Given the description of an element on the screen output the (x, y) to click on. 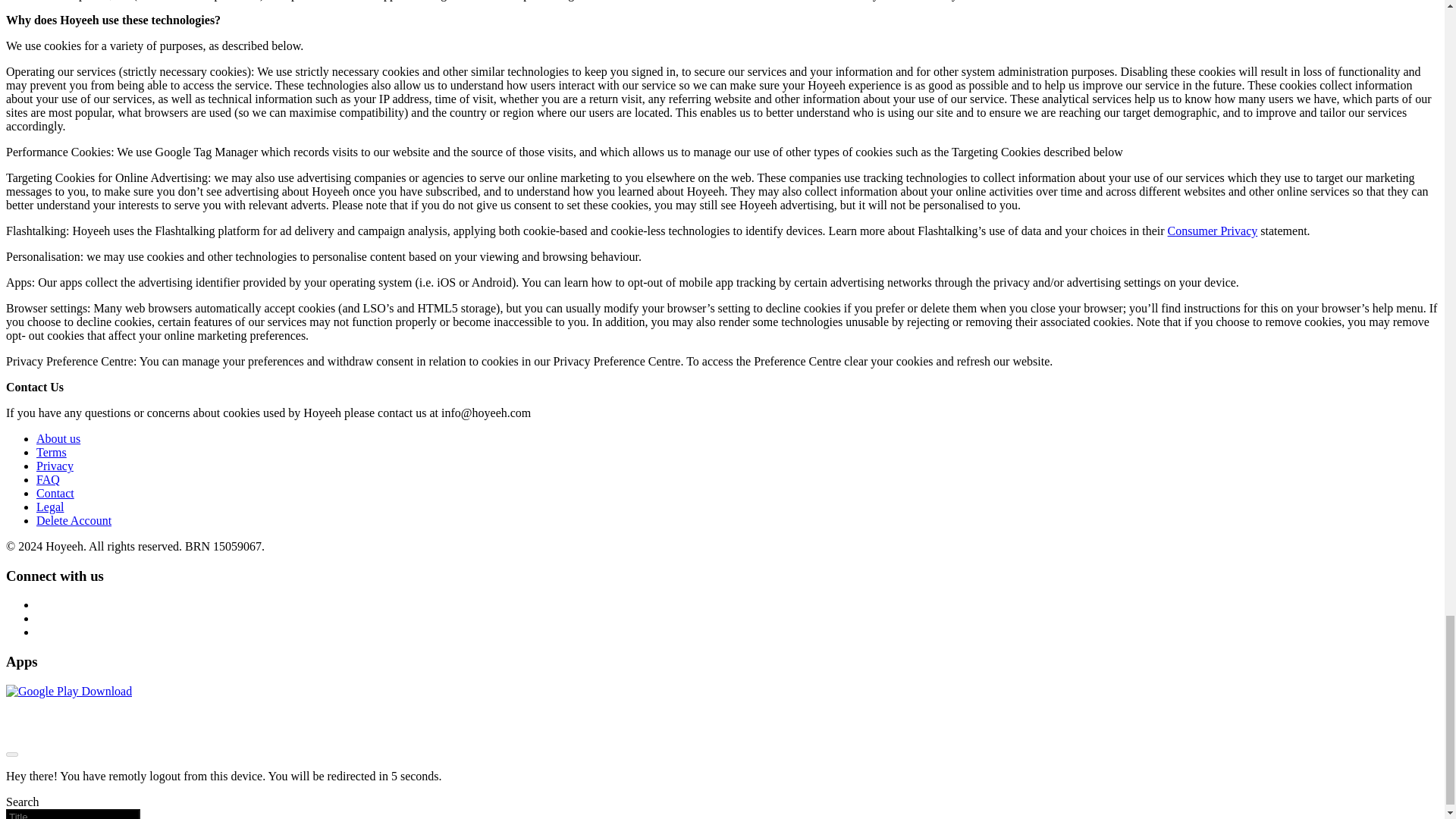
Delete Account (74, 520)
Privacy (55, 465)
Legal (50, 506)
Consumer Privacy (1212, 230)
Terms (51, 451)
Contact (55, 492)
About us (58, 438)
FAQ (47, 479)
